Given the description of an element on the screen output the (x, y) to click on. 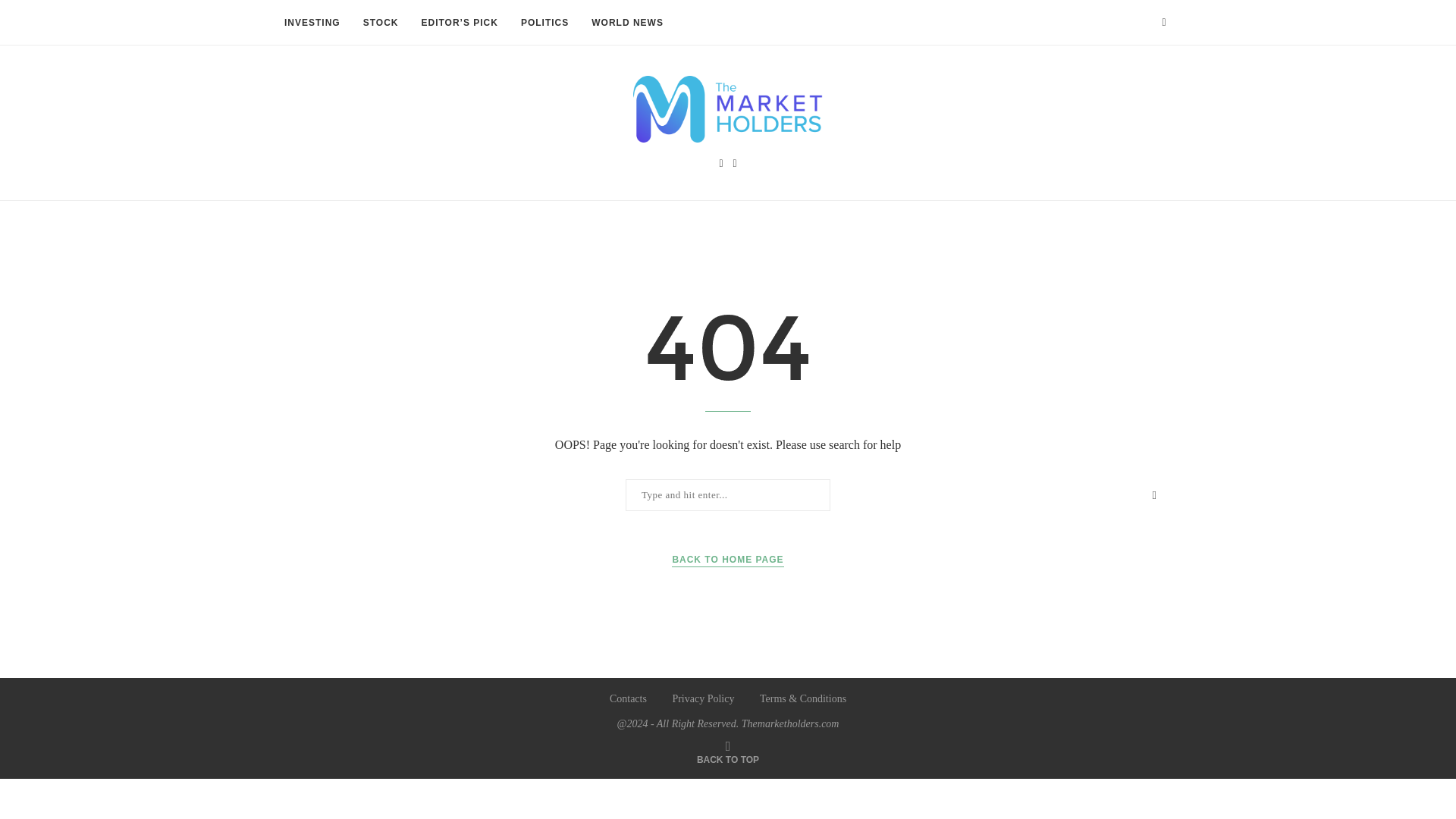
INVESTING (311, 22)
STOCK (380, 22)
Contacts (628, 698)
Privacy Policy (702, 698)
BACK TO TOP (727, 758)
BACK TO HOME PAGE (727, 559)
WORLD NEWS (627, 22)
POLITICS (545, 22)
